Given the description of an element on the screen output the (x, y) to click on. 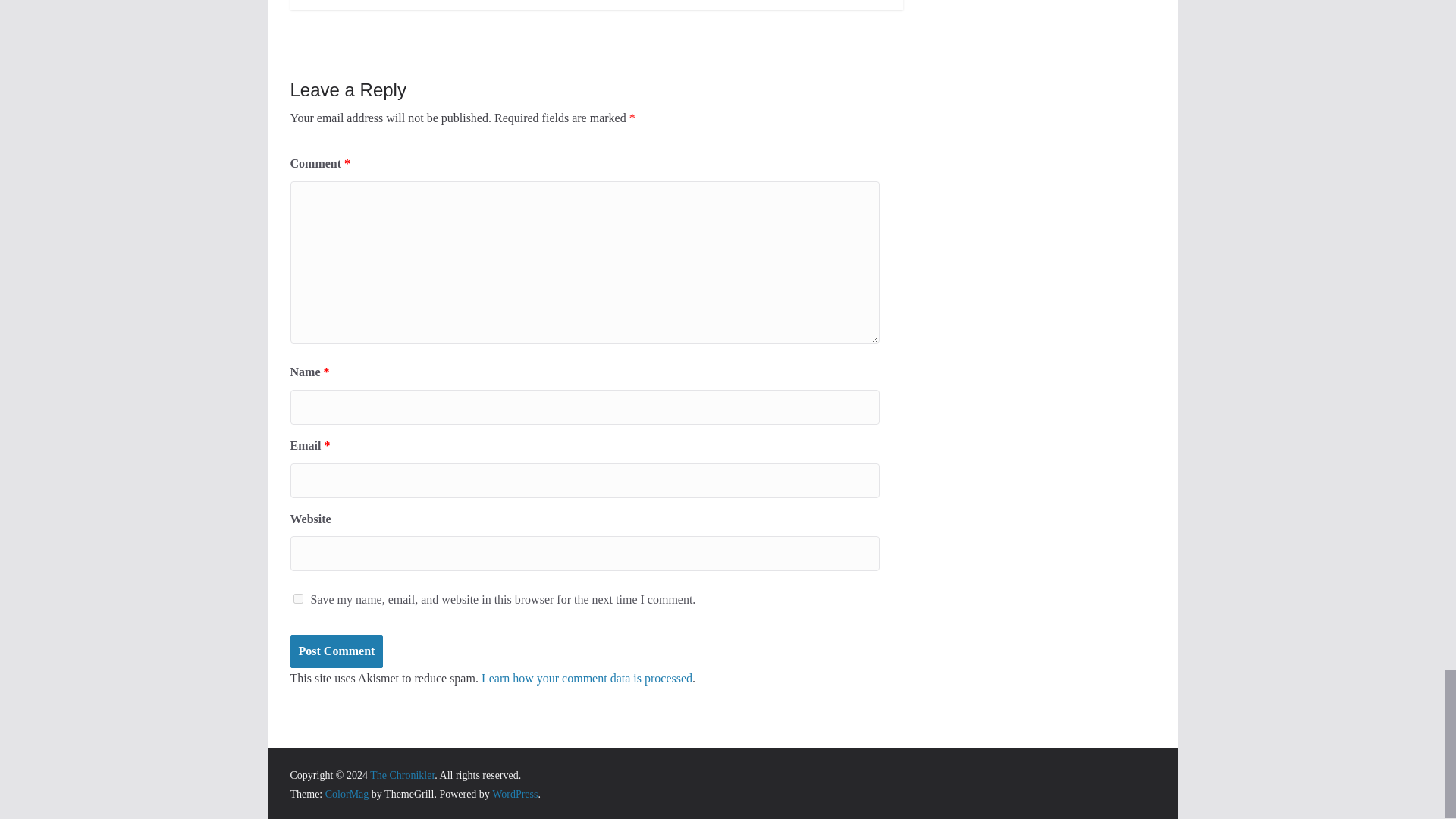
Post Comment (335, 651)
yes (297, 598)
